Given the description of an element on the screen output the (x, y) to click on. 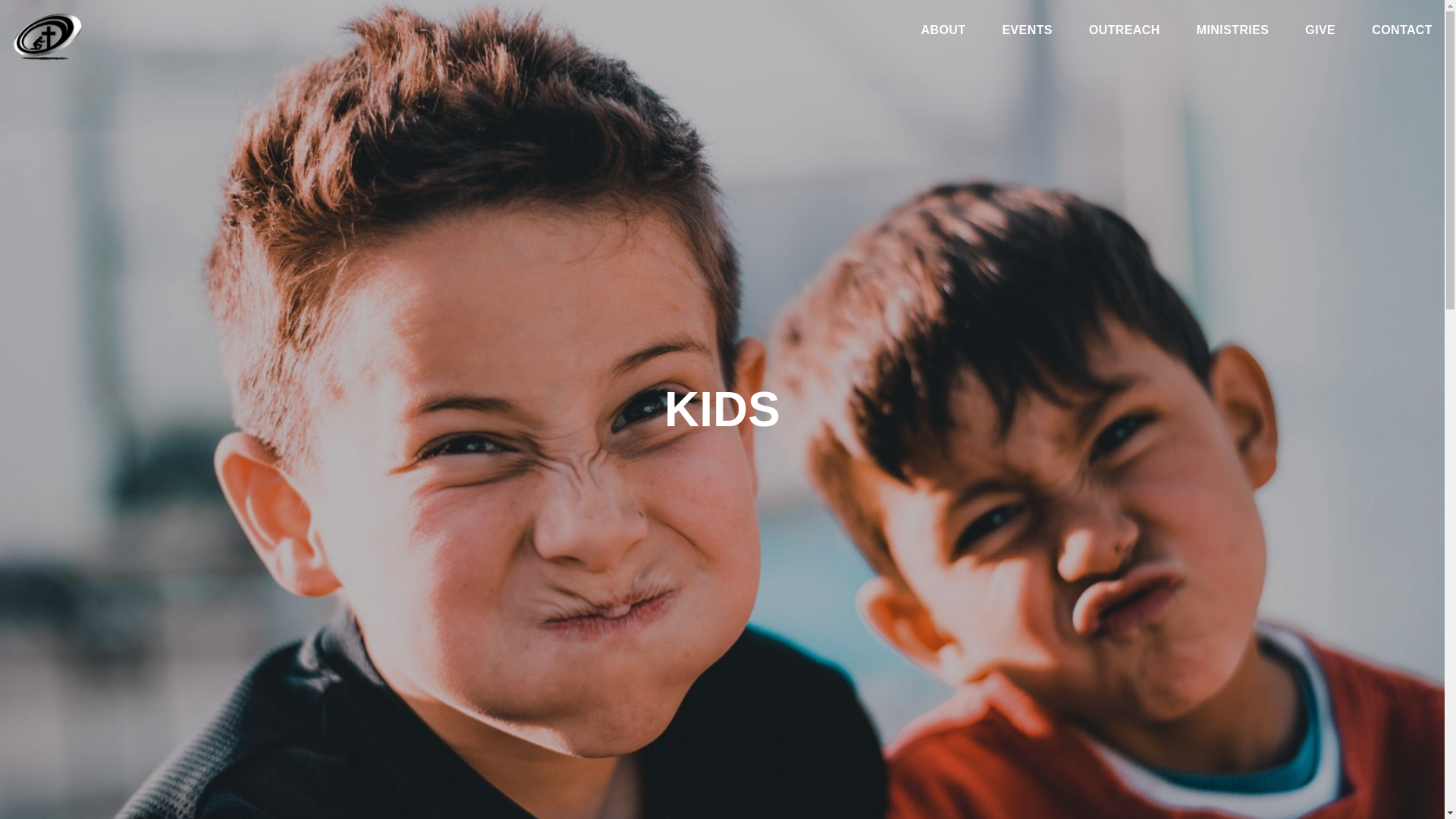
EVENTS (1026, 33)
ABOUT (943, 33)
OUTREACH (1124, 33)
MINISTRIES (1232, 33)
CONTACT (1401, 33)
GIVE (1319, 33)
